Given the description of an element on the screen output the (x, y) to click on. 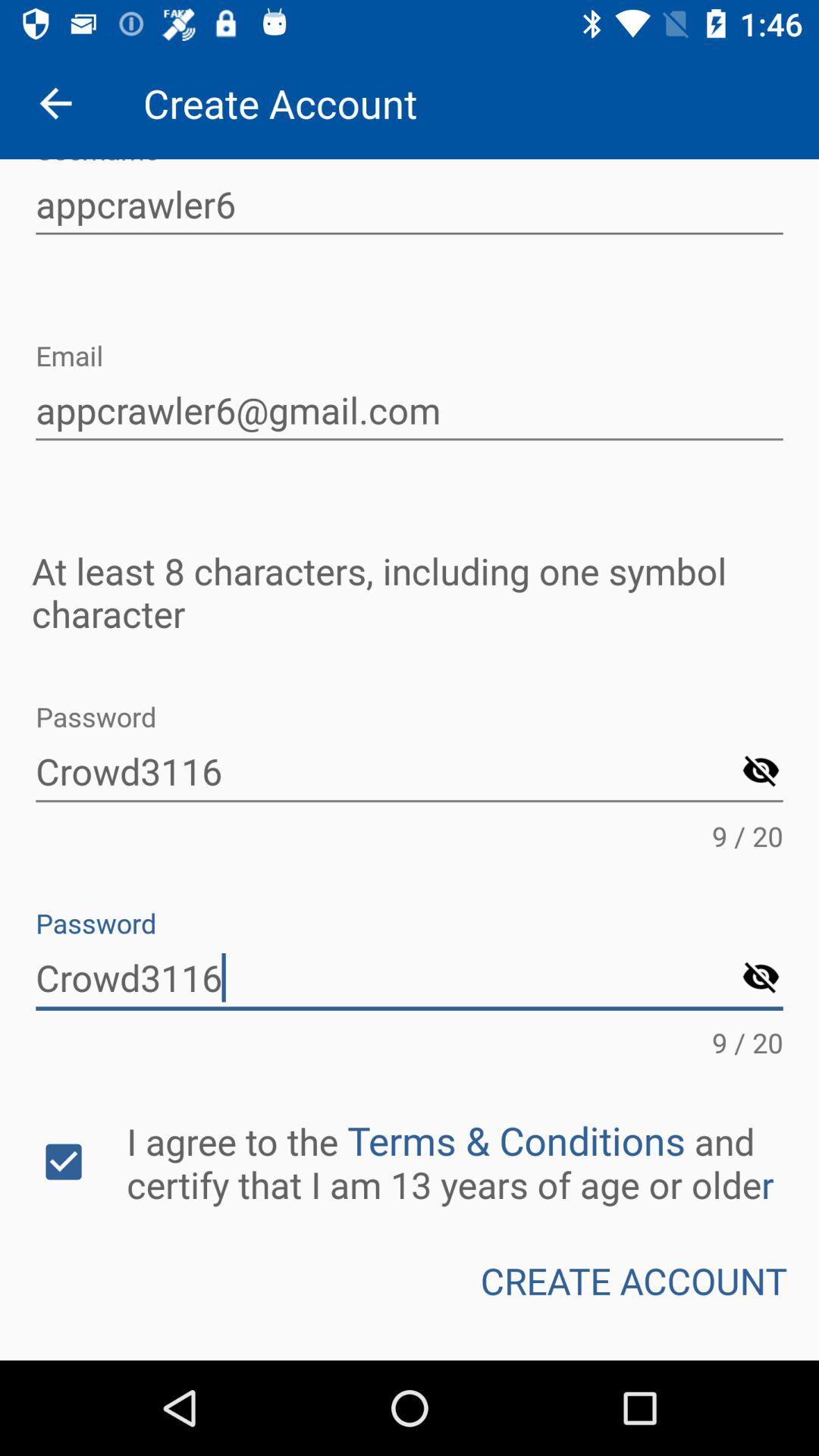
hide password option (761, 771)
